Given the description of an element on the screen output the (x, y) to click on. 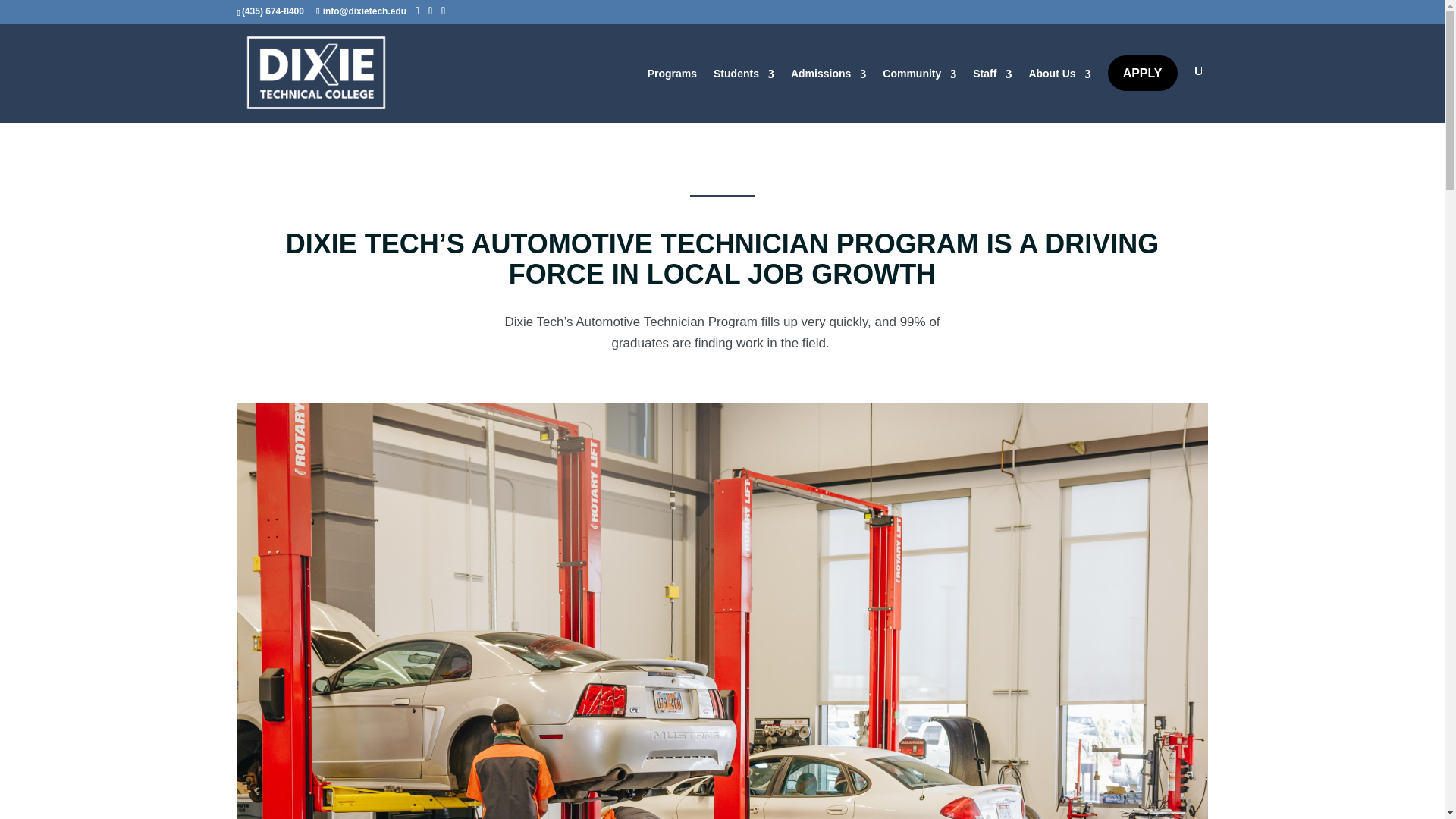
About Us (1058, 77)
Programs (672, 77)
Community (919, 77)
Staff (991, 77)
Admissions (828, 77)
Students (743, 77)
